Given the description of an element on the screen output the (x, y) to click on. 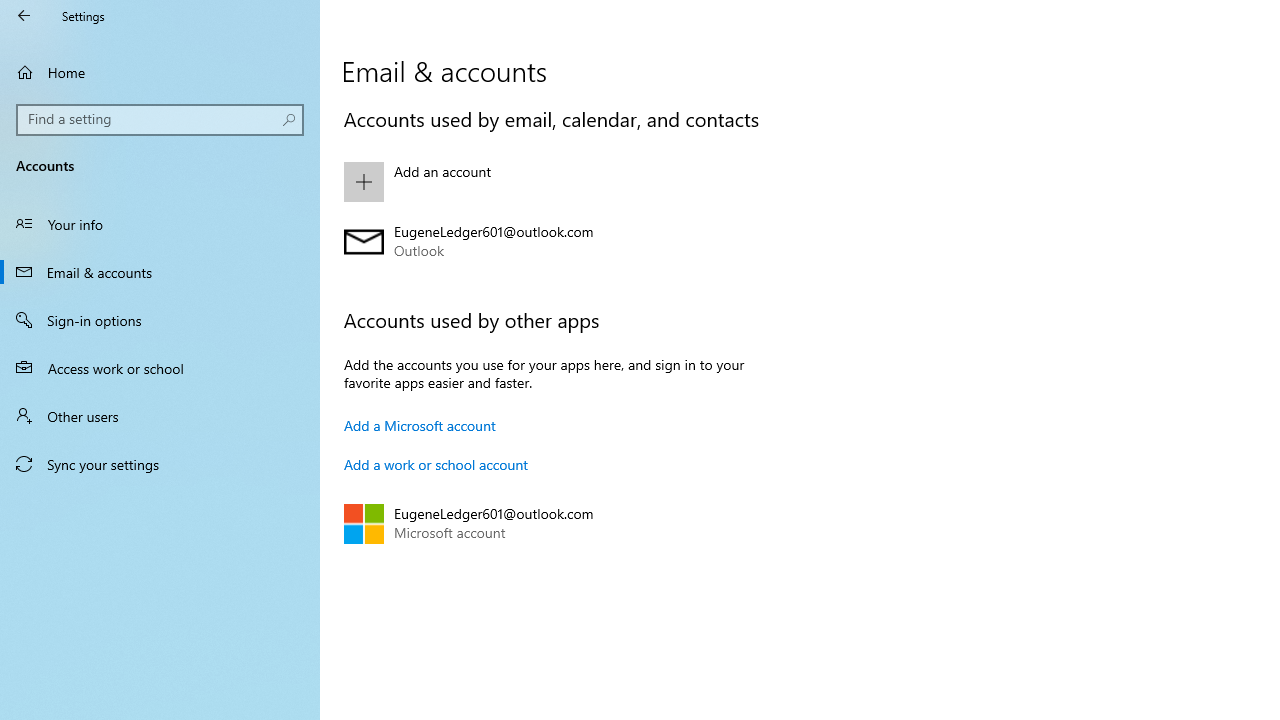
EugeneLedger601@outlook.com Outlook (563, 241)
Back (24, 15)
Email & accounts (160, 271)
Search box, Find a setting (160, 119)
Home (160, 71)
Sign-in options (160, 319)
Add a Microsoft account (420, 425)
Access work or school (160, 367)
Add a work or school account (436, 464)
EugeneLedger601@outlook.com Microsoft account (563, 523)
Sync your settings (160, 463)
Your info (160, 223)
Add an account (563, 181)
Other users (160, 415)
